Given the description of an element on the screen output the (x, y) to click on. 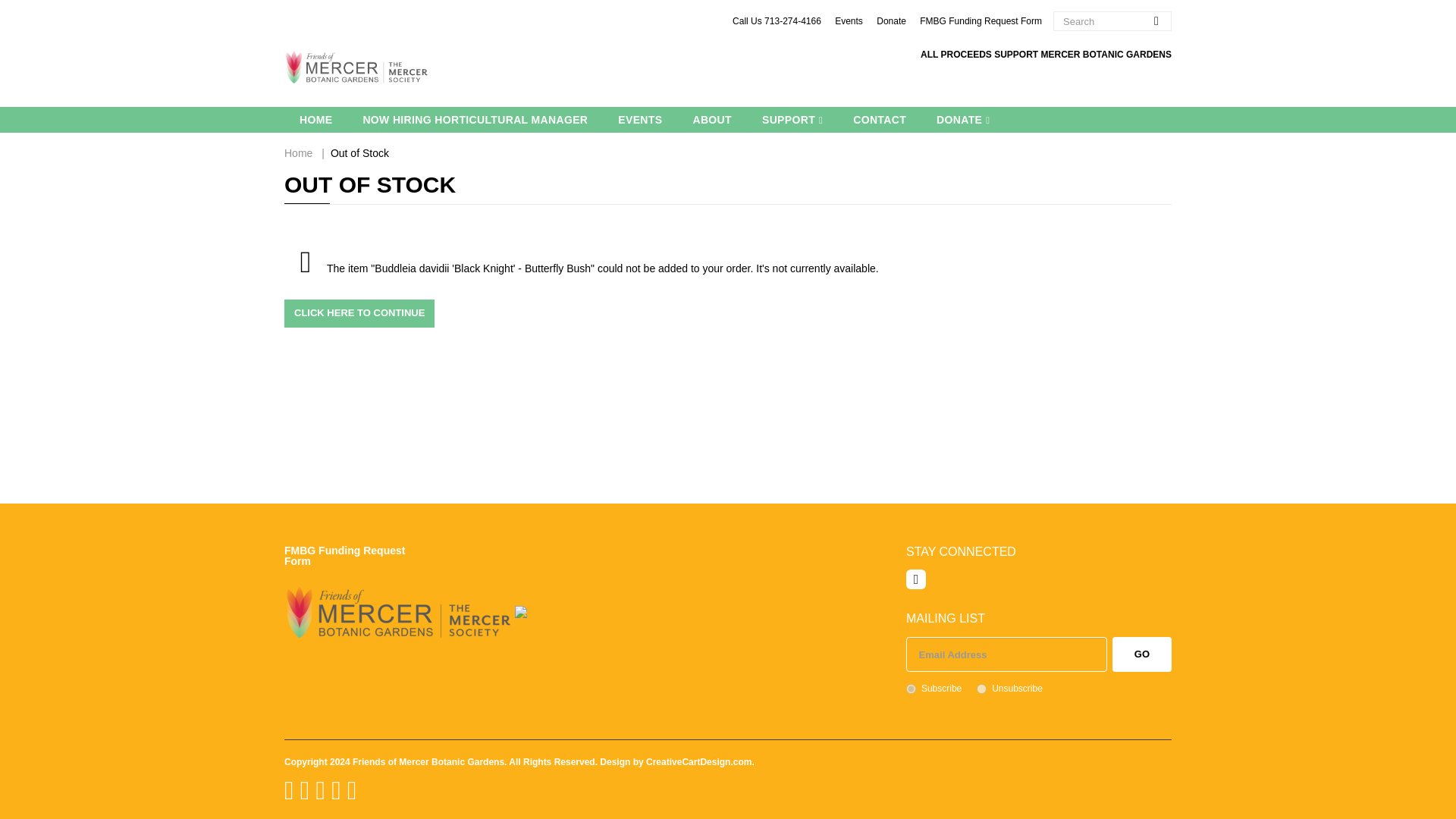
NOW HIRING HORTICULTURAL MANAGER (474, 119)
CONTACT (879, 119)
FMBG Funding Request Form (343, 555)
FMBG Funding Request Form (981, 20)
EVENTS (639, 119)
ABOUT (711, 119)
SUPPORT (792, 119)
713-274-4166 (792, 20)
1 (910, 688)
Home (298, 152)
